Given the description of an element on the screen output the (x, y) to click on. 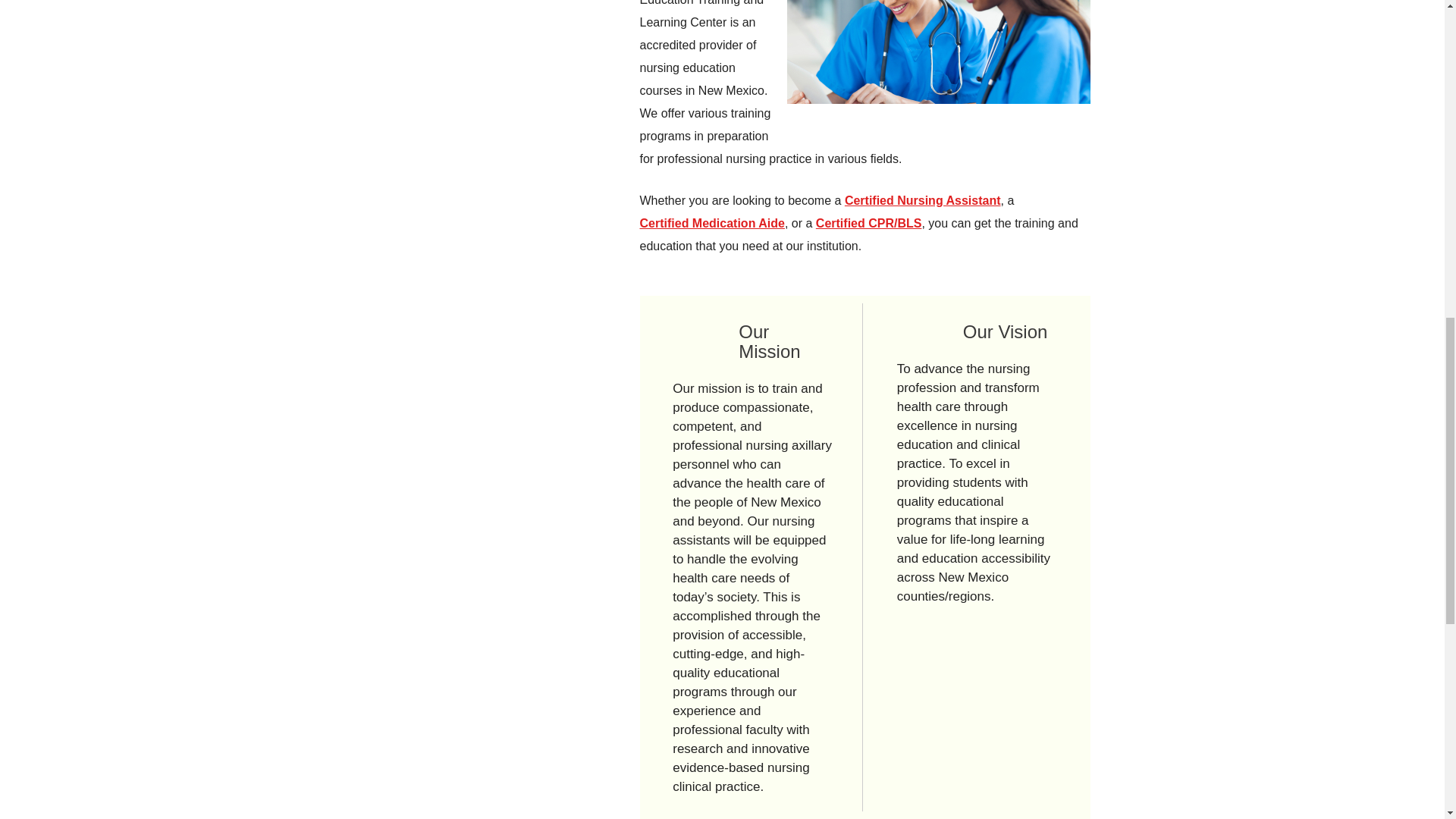
Certified Nursing Assistant (922, 200)
Certified Medication Aide (712, 223)
